Given the description of an element on the screen output the (x, y) to click on. 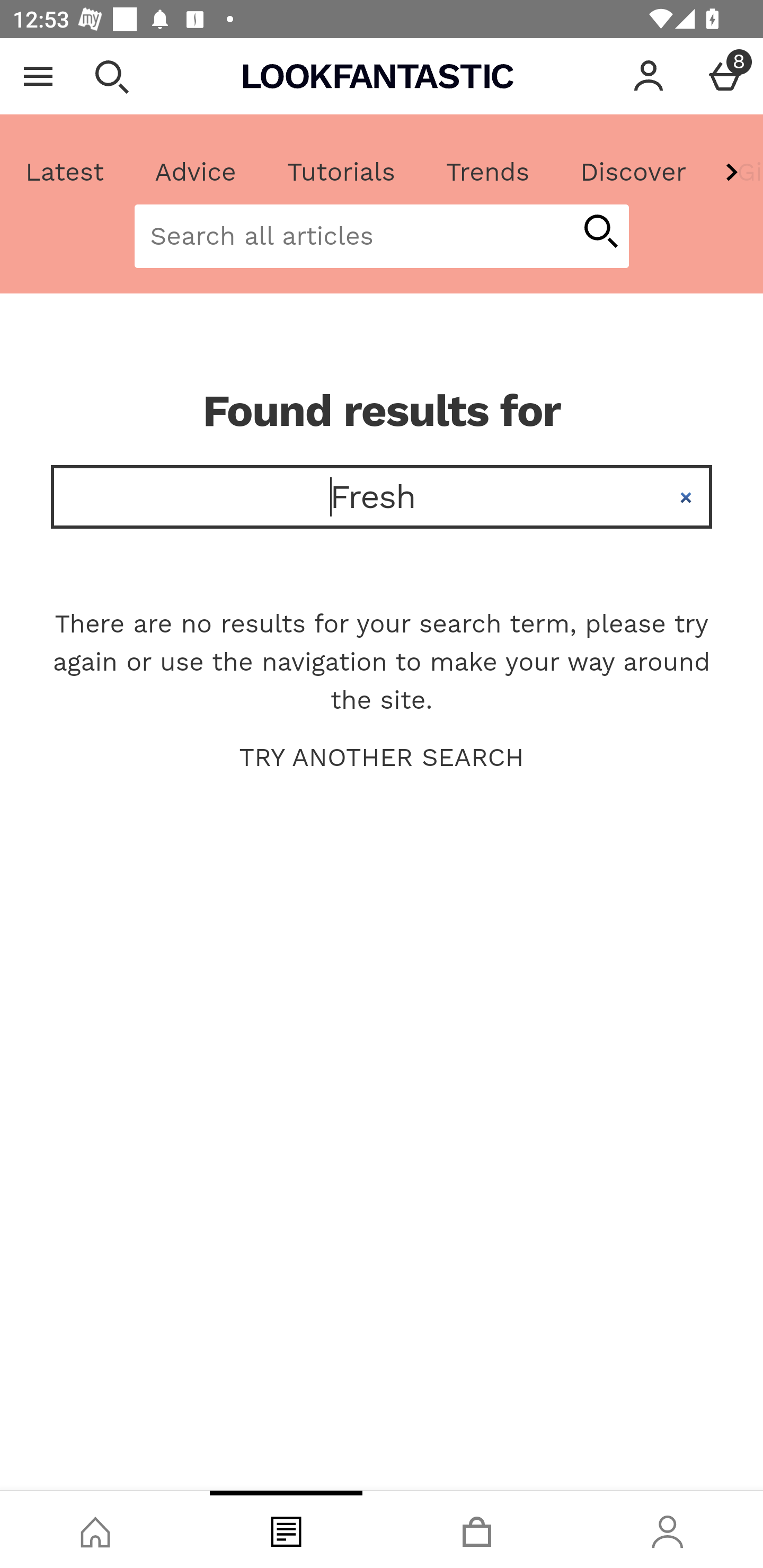
Open Menu (38, 75)
Open search (111, 75)
Account (648, 75)
Basket Menu (724, 75)
Latest (65, 172)
Advice (195, 172)
Tutorials (340, 172)
Trends (486, 172)
Discover (632, 172)
Gift Guide (736, 172)
start article search (599, 232)
Fresh (381, 496)
TRY ANOTHER SEARCH (381, 757)
Shop, tab, 1 of 4 (95, 1529)
Blog, tab, 2 of 4 (285, 1529)
Basket, tab, 3 of 4 (476, 1529)
Account, tab, 4 of 4 (667, 1529)
